Given the description of an element on the screen output the (x, y) to click on. 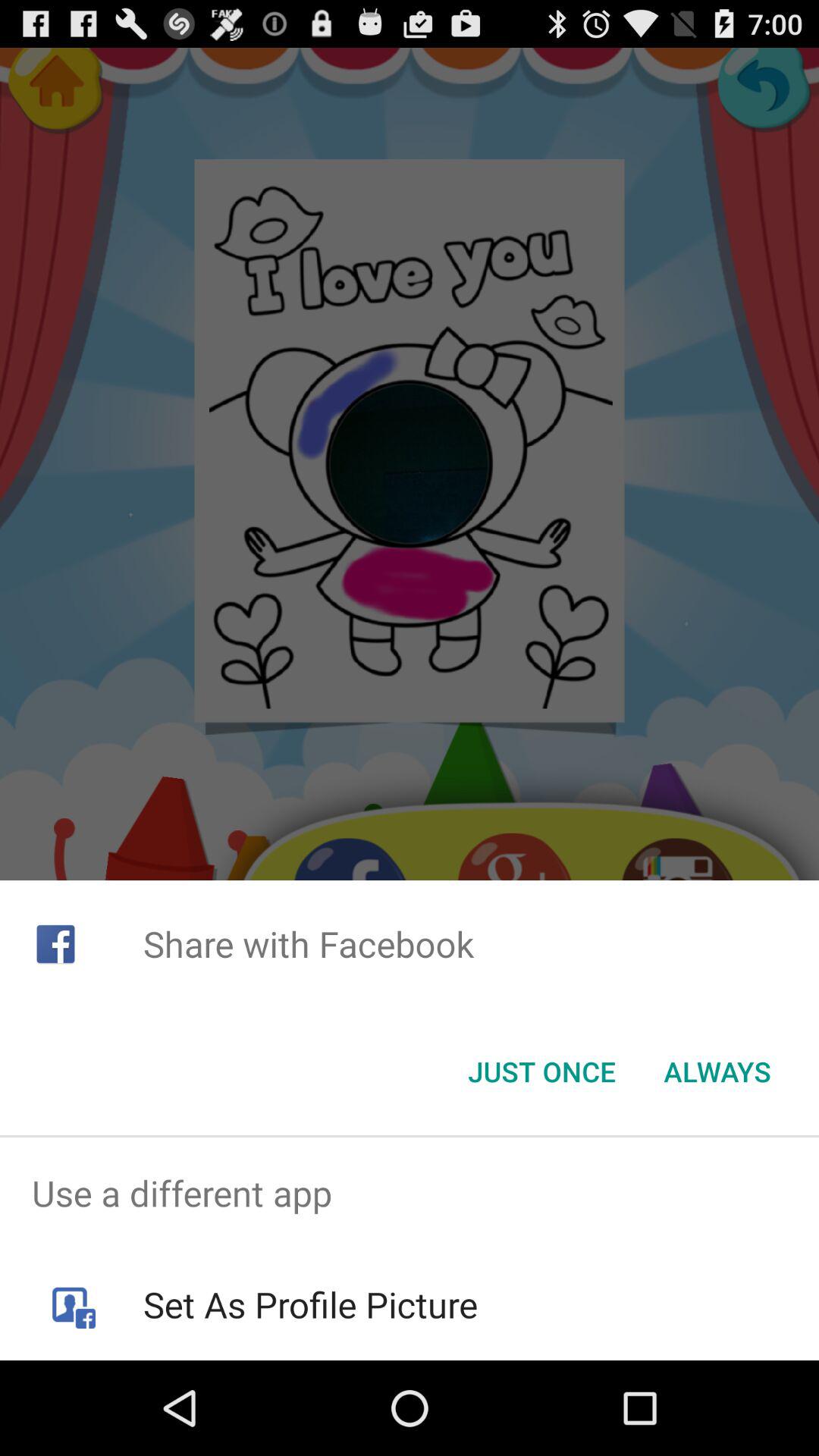
scroll until the always button (717, 1071)
